Given the description of an element on the screen output the (x, y) to click on. 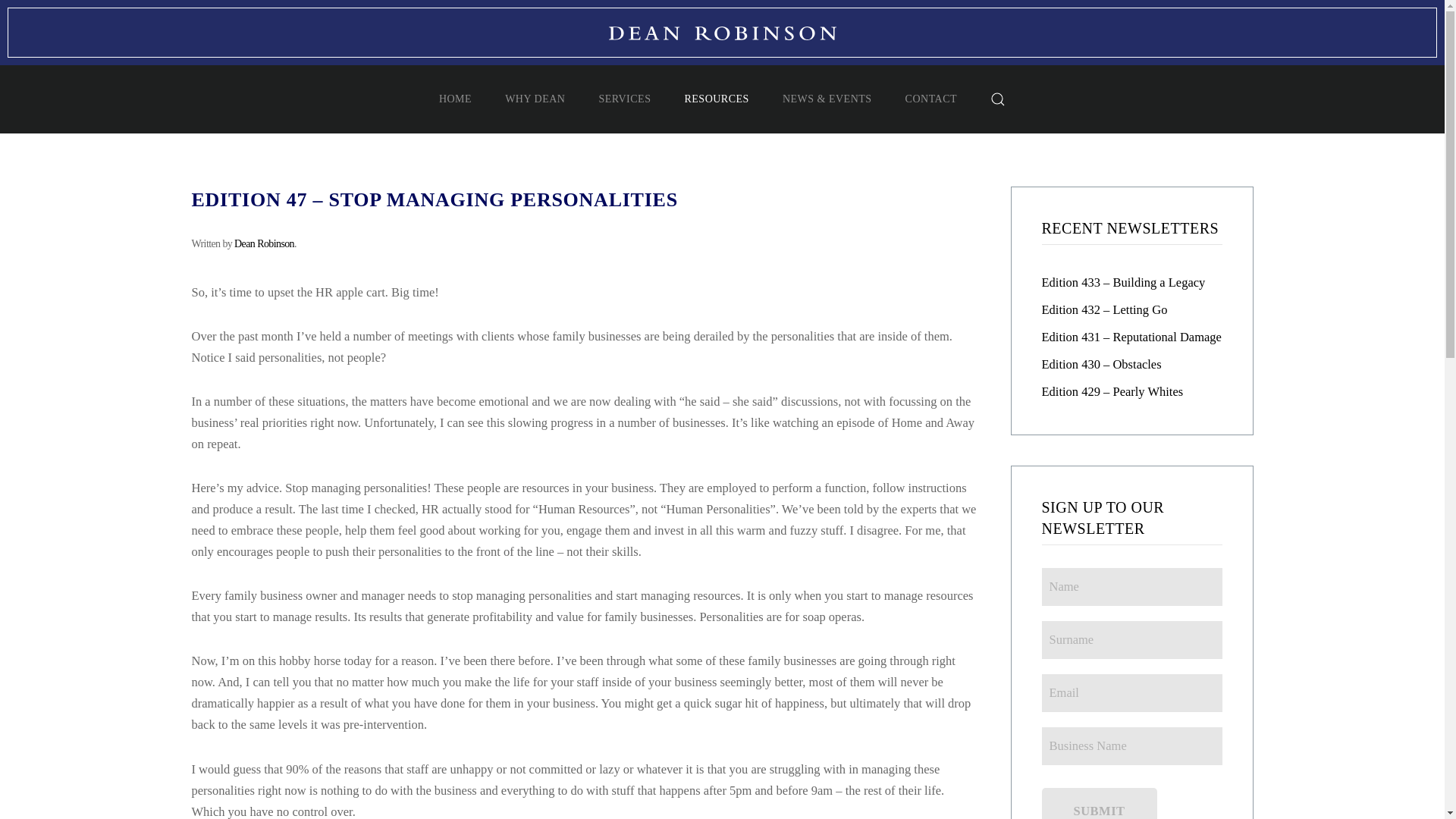
SERVICES (624, 98)
RESOURCES (716, 98)
WHY DEAN (534, 98)
Submit (1099, 803)
